Given the description of an element on the screen output the (x, y) to click on. 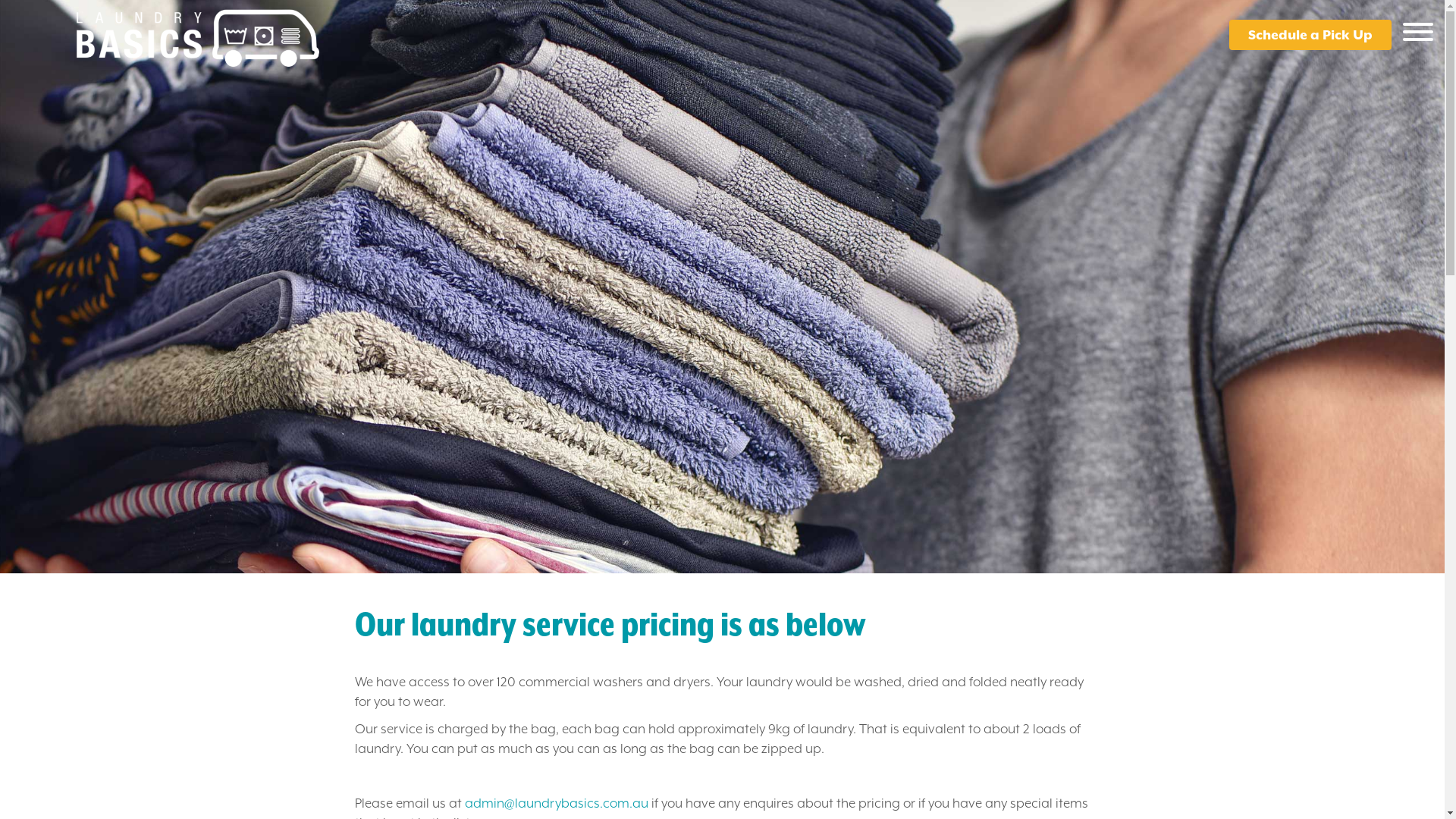
admin@laundrybasics.com.au Element type: text (555, 802)
Schedule a Pick Up Element type: text (1310, 34)
